Given the description of an element on the screen output the (x, y) to click on. 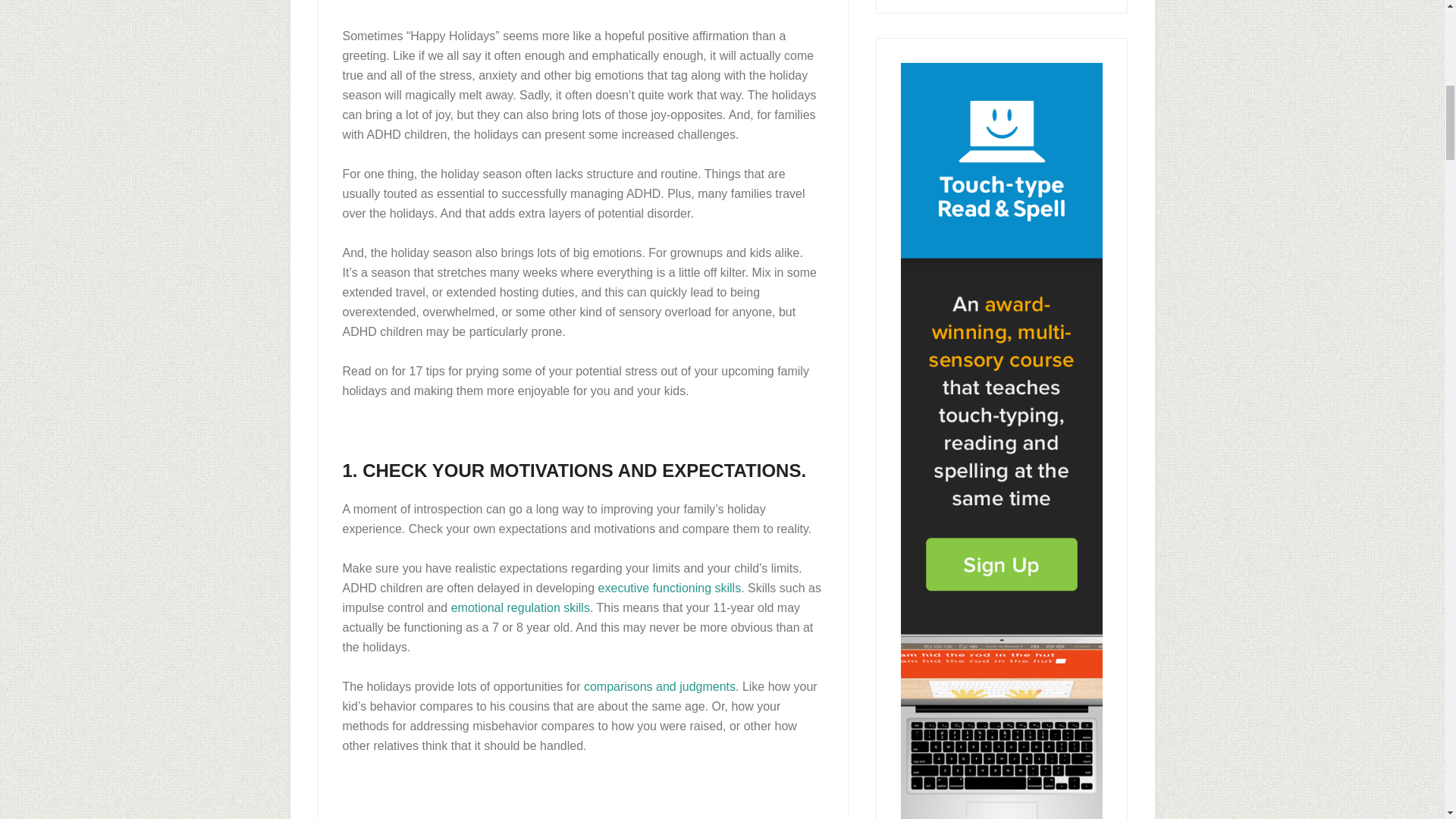
comparisons and judgments (659, 686)
executive functioning skills (669, 587)
emotional regulation skills (520, 607)
